Given the description of an element on the screen output the (x, y) to click on. 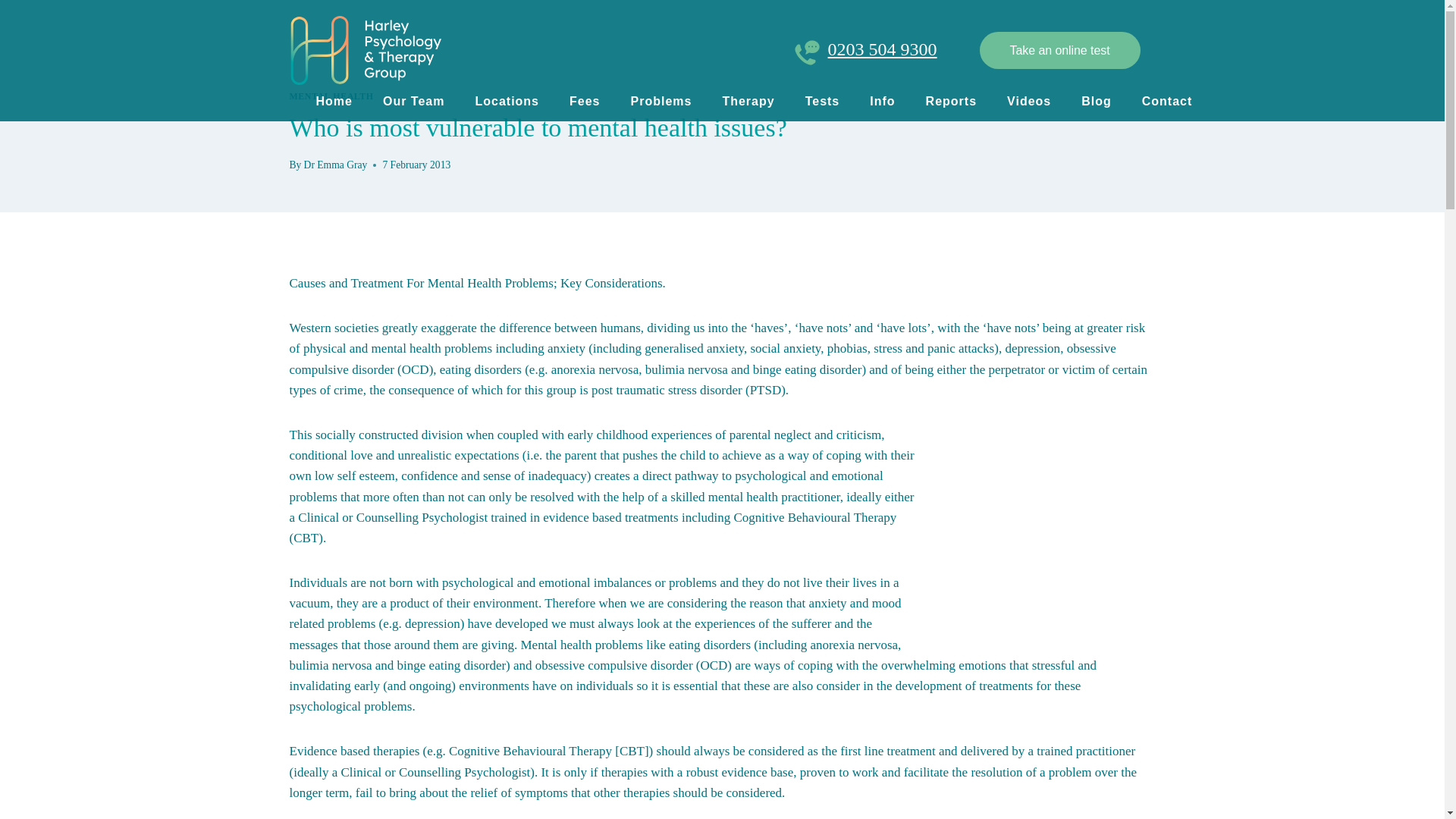
Take an online test (1059, 50)
Home (333, 99)
0203 504 9300 (882, 48)
Locations (506, 99)
Our Team (413, 99)
